Given the description of an element on the screen output the (x, y) to click on. 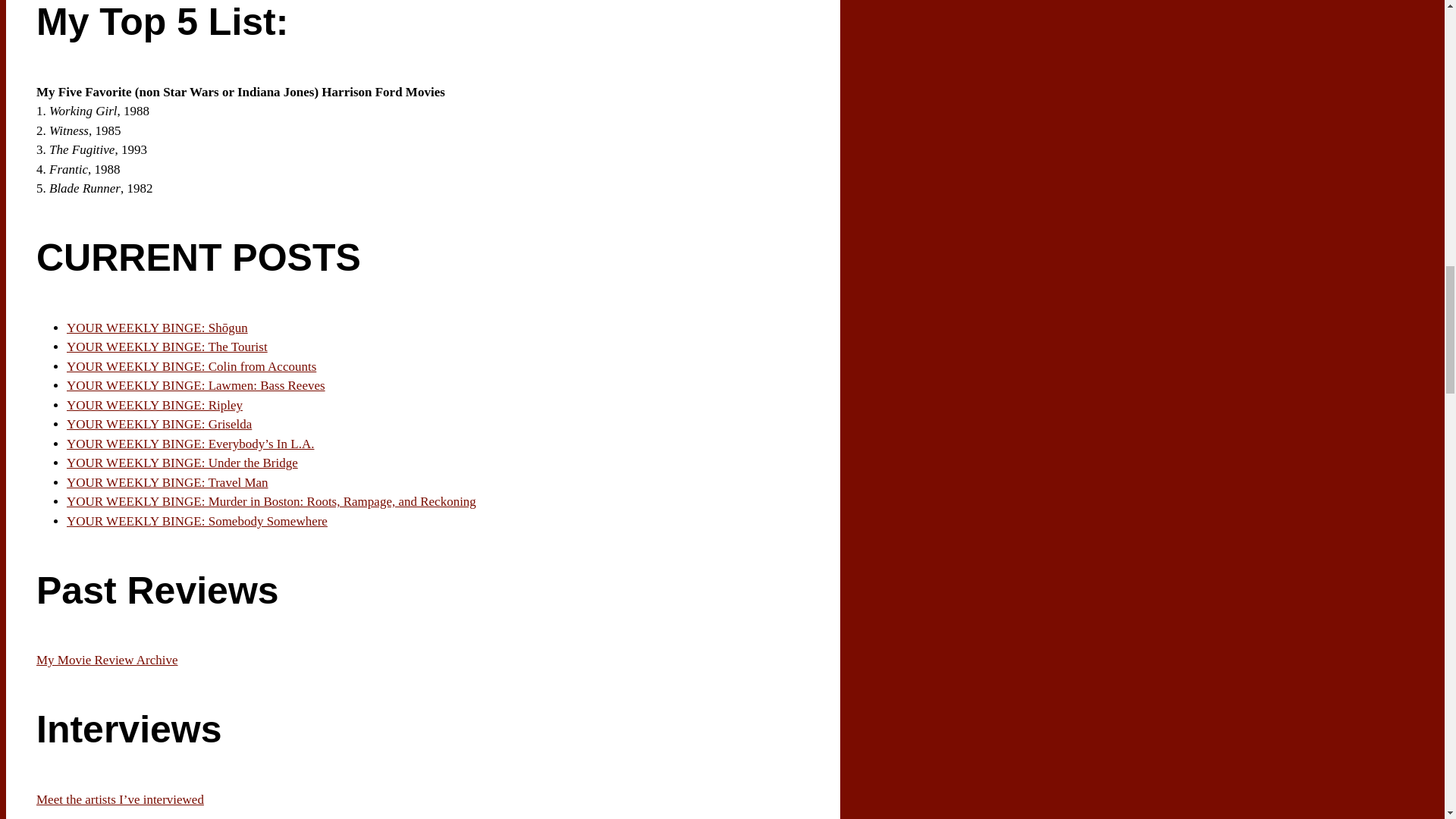
YOUR WEEKLY BINGE: Griselda (158, 423)
My Movie Review Archive (106, 659)
YOUR WEEKLY BINGE: Somebody Somewhere (196, 521)
YOUR WEEKLY BINGE: Lawmen: Bass Reeves (195, 385)
YOUR WEEKLY BINGE: Colin from Accounts (190, 366)
YOUR WEEKLY BINGE: The Tourist (166, 346)
YOUR WEEKLY BINGE: Travel Man (166, 482)
YOUR WEEKLY BINGE: Ripley (154, 405)
YOUR WEEKLY BINGE: Under the Bridge (182, 462)
